Given the description of an element on the screen output the (x, y) to click on. 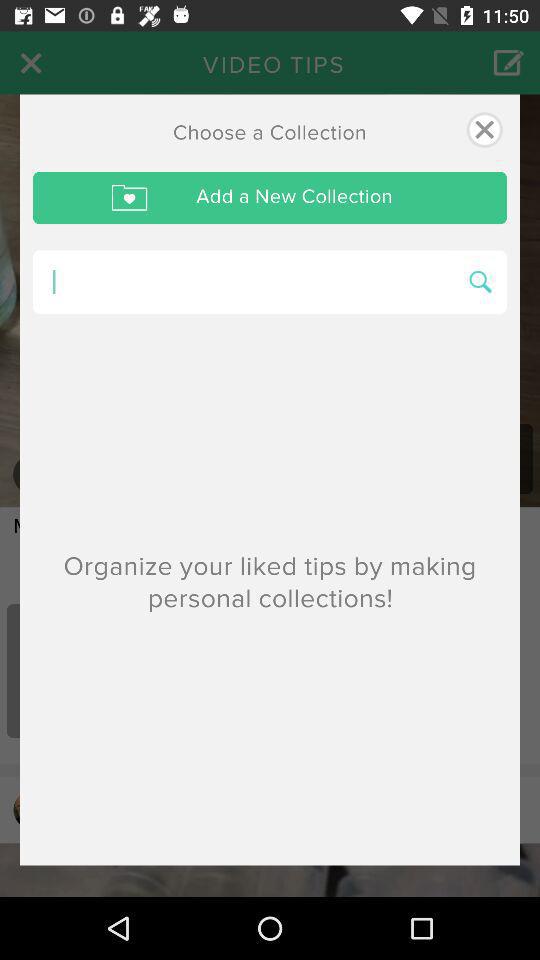
search collection (243, 281)
